Given the description of an element on the screen output the (x, y) to click on. 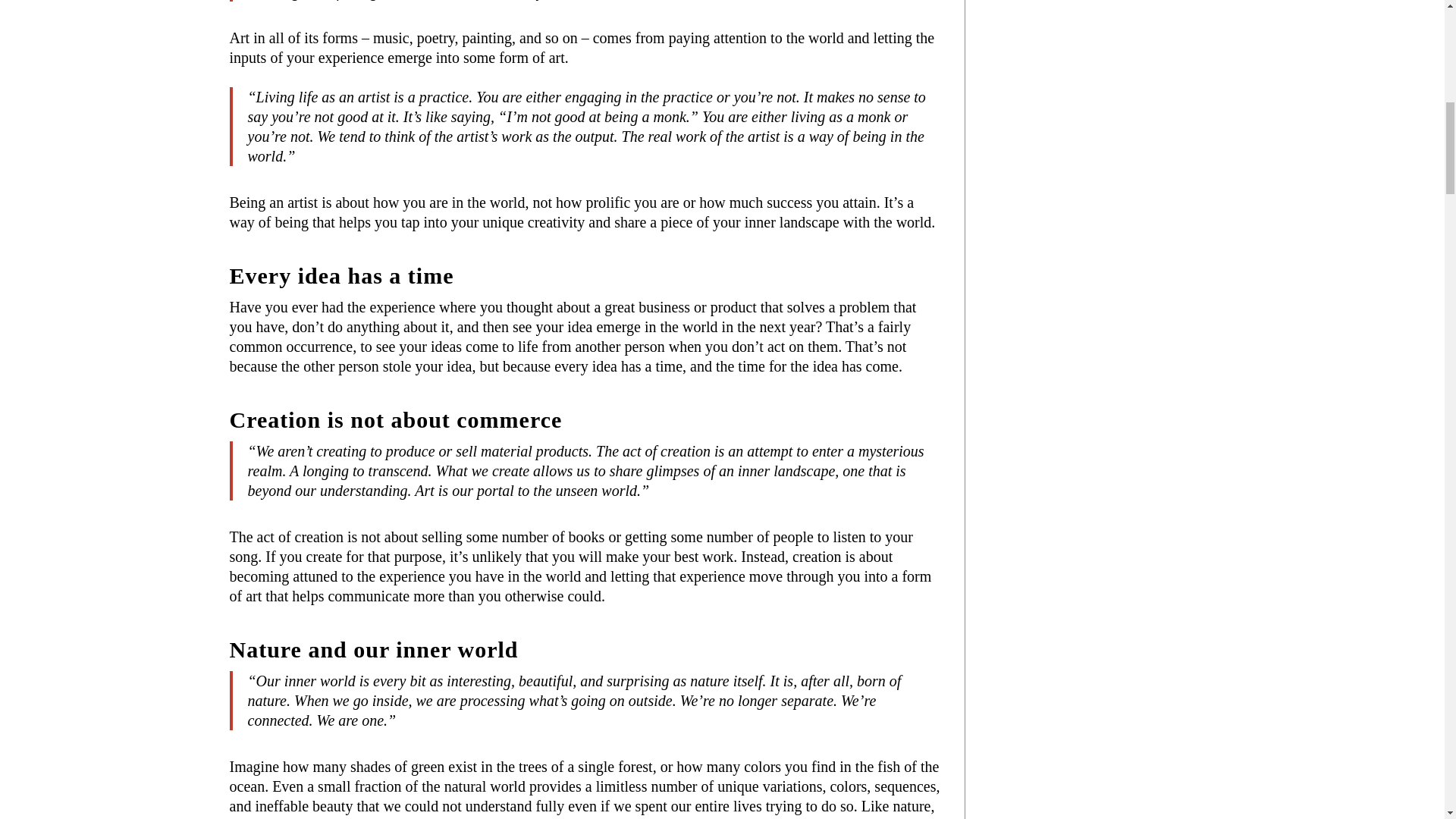
newsletter (1100, 48)
